Given the description of an element on the screen output the (x, y) to click on. 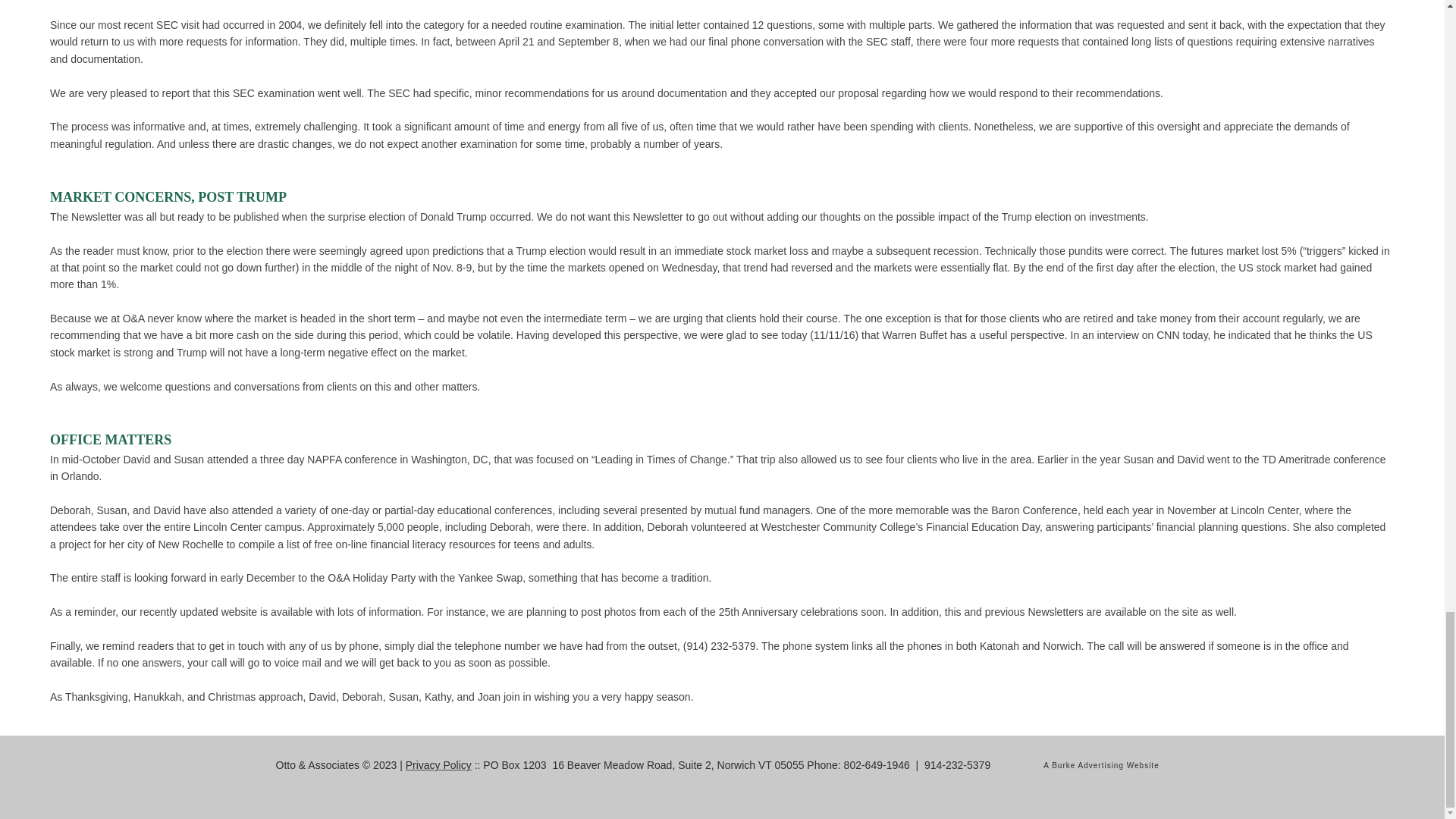
A Burke Advertising Website (1100, 765)
Privacy Policy (438, 765)
